Given the description of an element on the screen output the (x, y) to click on. 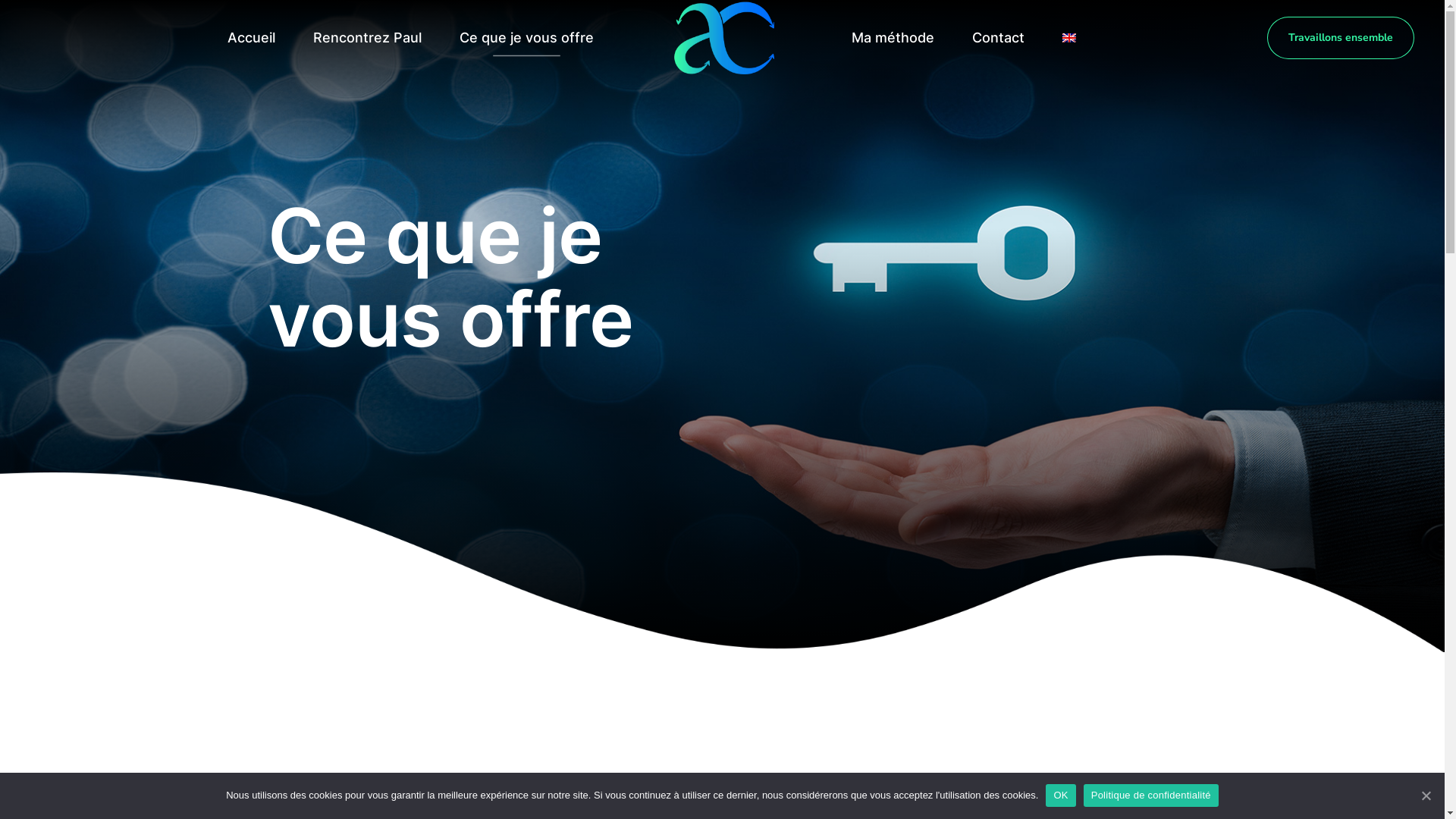
Travaillons ensemble Element type: text (1340, 37)
Rencontrez Paul Element type: text (366, 37)
Contact Element type: text (998, 37)
OK Element type: text (1060, 795)
Ce que je vous offre Element type: text (526, 37)
Accueil Element type: text (251, 37)
